Given the description of an element on the screen output the (x, y) to click on. 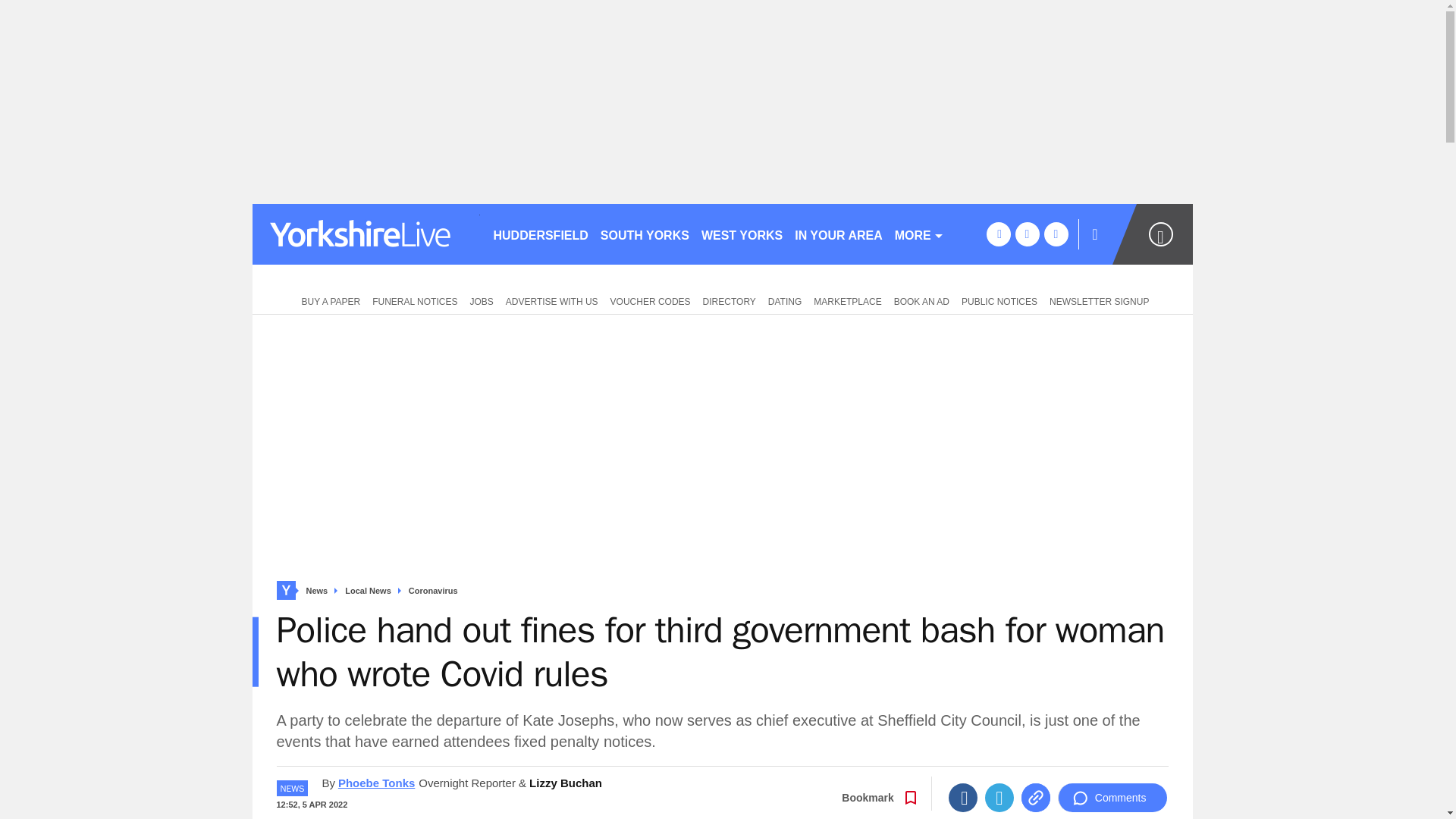
HUDDERSFIELD (540, 233)
twitter (1026, 233)
MORE (919, 233)
WEST YORKS (742, 233)
Facebook (962, 797)
facebook (997, 233)
instagram (1055, 233)
huddersfieldexaminer (365, 233)
Twitter (999, 797)
Comments (1112, 797)
